Given the description of an element on the screen output the (x, y) to click on. 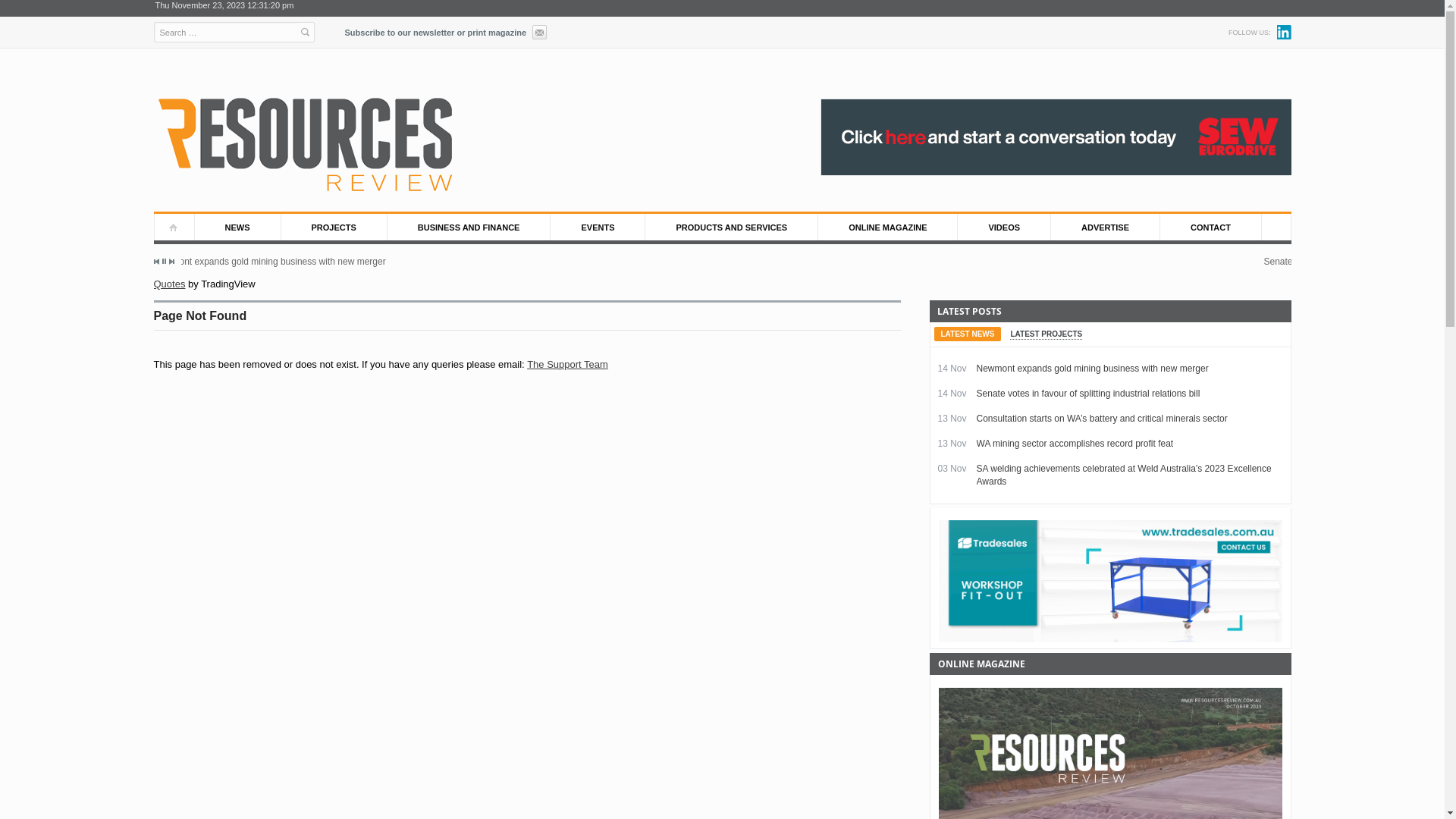
ADVERTISE Element type: text (1105, 226)
PROJECTS Element type: text (333, 226)
LinkedIn Element type: hover (1284, 32)
LATEST PROJECTS Element type: text (1045, 334)
Pause Element type: text (164, 260)
Newmont expands gold mining business with new merger Element type: text (708, 261)
BUSINESS AND FINANCE Element type: text (469, 226)
Previous Element type: text (156, 261)
PRODUCTS AND SERVICES Element type: text (731, 226)
CONTACT Element type: text (1210, 226)
Subscribe to our newsletter or print magazine Element type: text (445, 30)
VIDEOS Element type: text (1004, 226)
NEWS Element type: text (237, 226)
Next Element type: text (170, 261)
ONLINE MAGAZINE Element type: text (887, 226)
NRR Element type: hover (304, 145)
EVENTS Element type: text (597, 226)
The Support Team Element type: text (567, 364)
Newmont expands gold mining business with new merger Element type: text (1092, 368)
WA mining sector accomplishes record profit feat Element type: text (1074, 443)
LATEST NEWS Element type: text (967, 333)
Quotes Element type: text (169, 283)
